Given the description of an element on the screen output the (x, y) to click on. 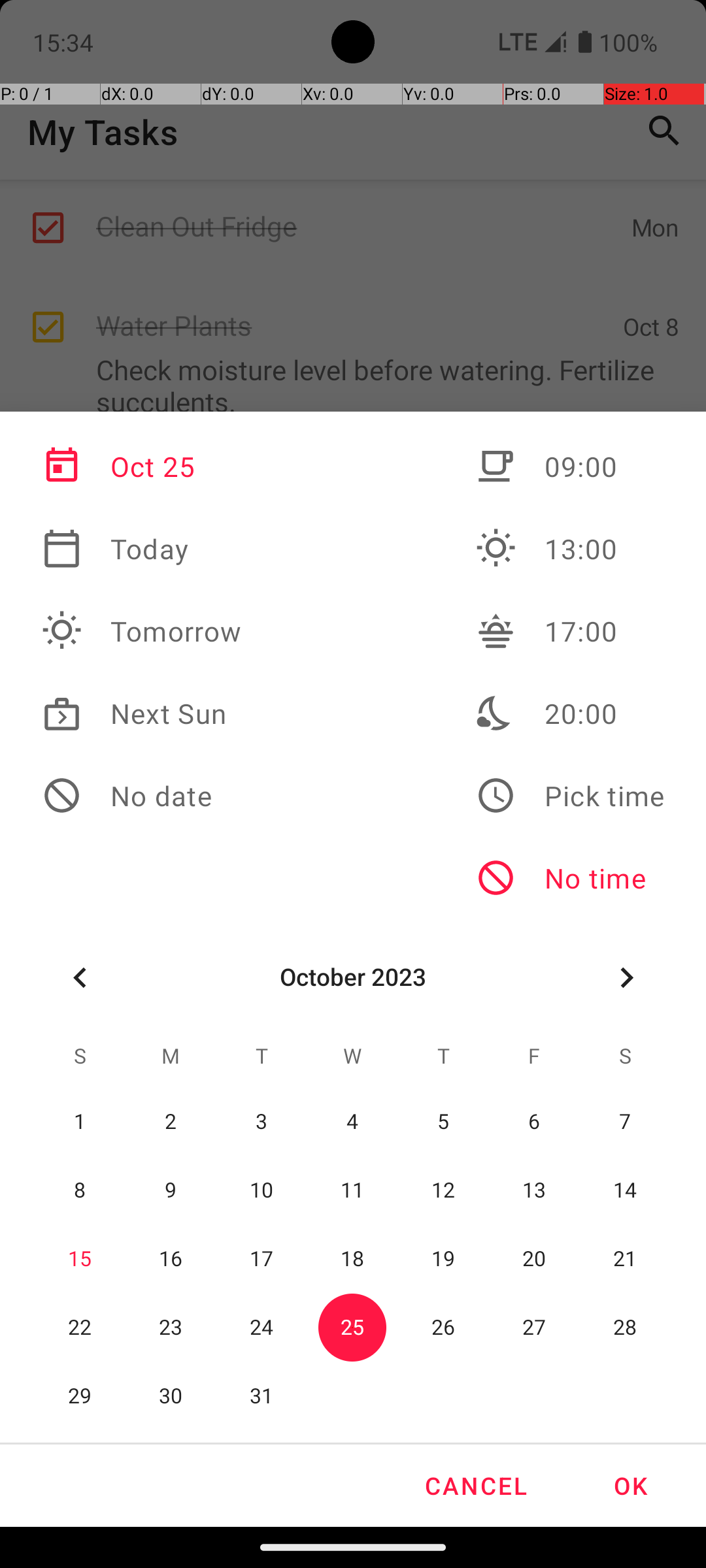
Oct 25 Element type: android.widget.CompoundButton (141, 466)
